Given the description of an element on the screen output the (x, y) to click on. 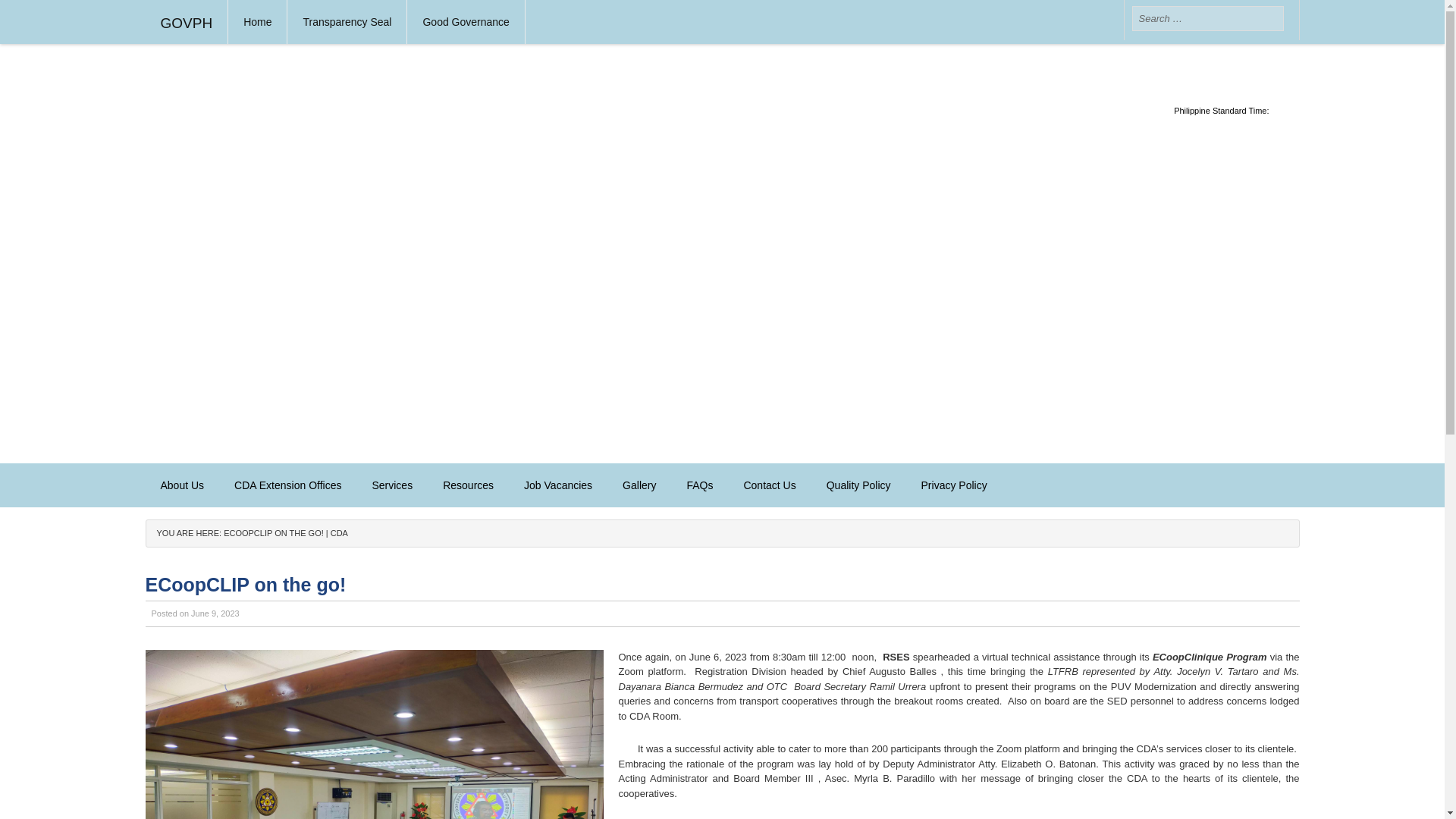
About Us (182, 484)
Search (37, 15)
CDA Extension Offices (287, 484)
Home (257, 22)
CAR EO (314, 524)
Good Governance (465, 22)
Overview (239, 524)
Transparency Seal (346, 22)
Freedom of Information (501, 60)
GOVPH (186, 22)
